Given the description of an element on the screen output the (x, y) to click on. 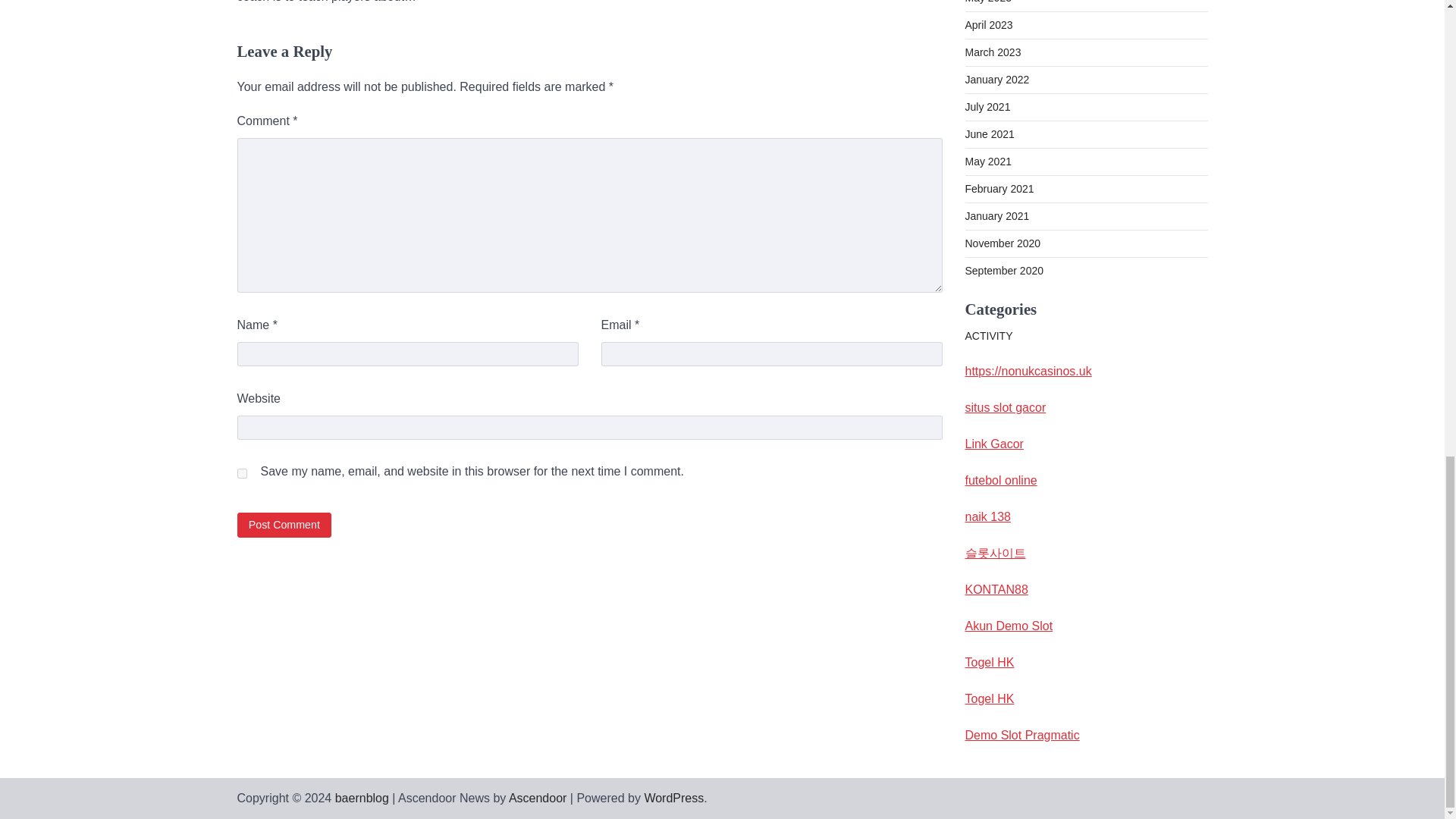
yes (240, 473)
Post Comment (283, 524)
Post Comment (283, 524)
